Given the description of an element on the screen output the (x, y) to click on. 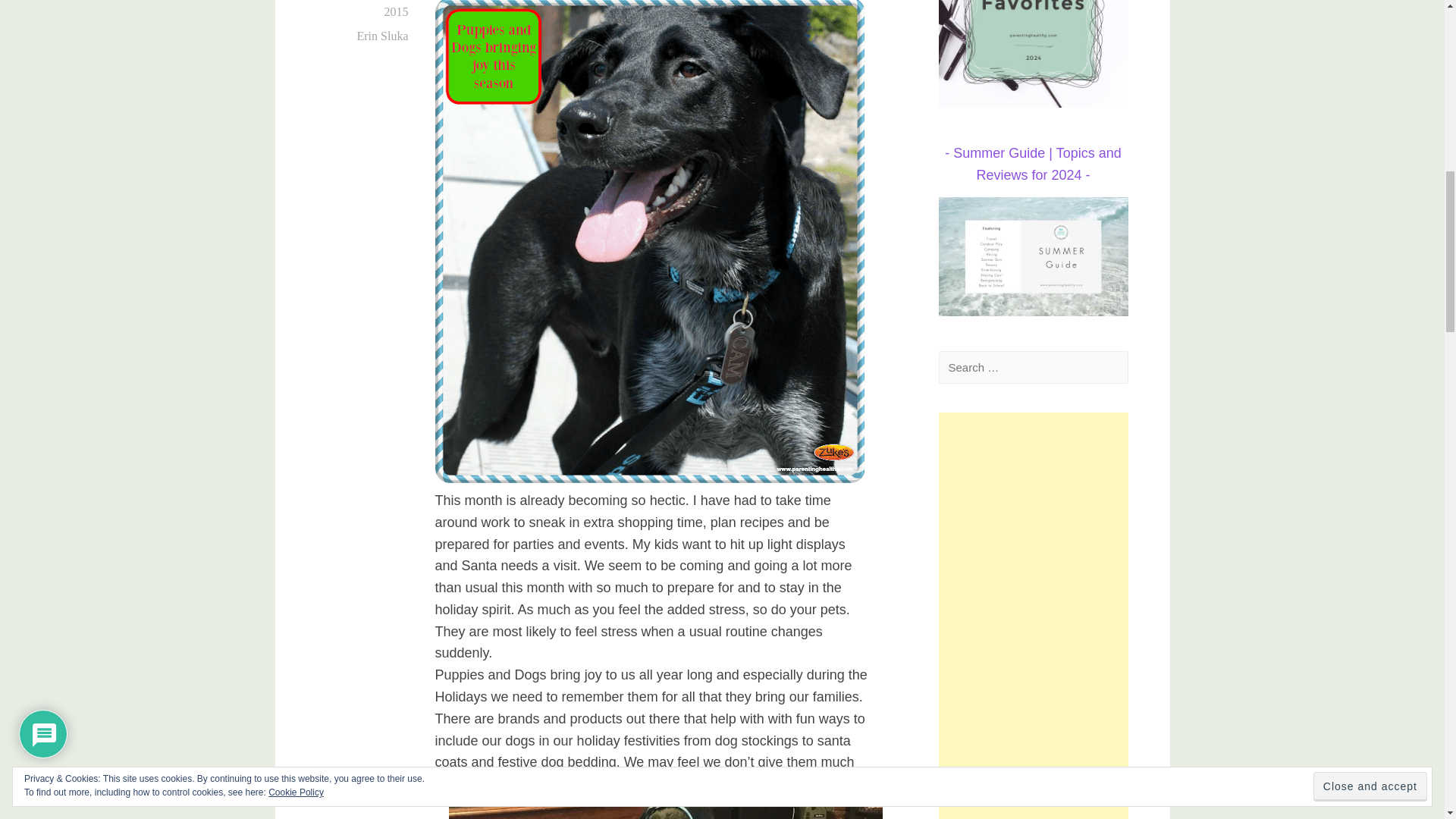
December 17, 2015 (374, 9)
